Given the description of an element on the screen output the (x, y) to click on. 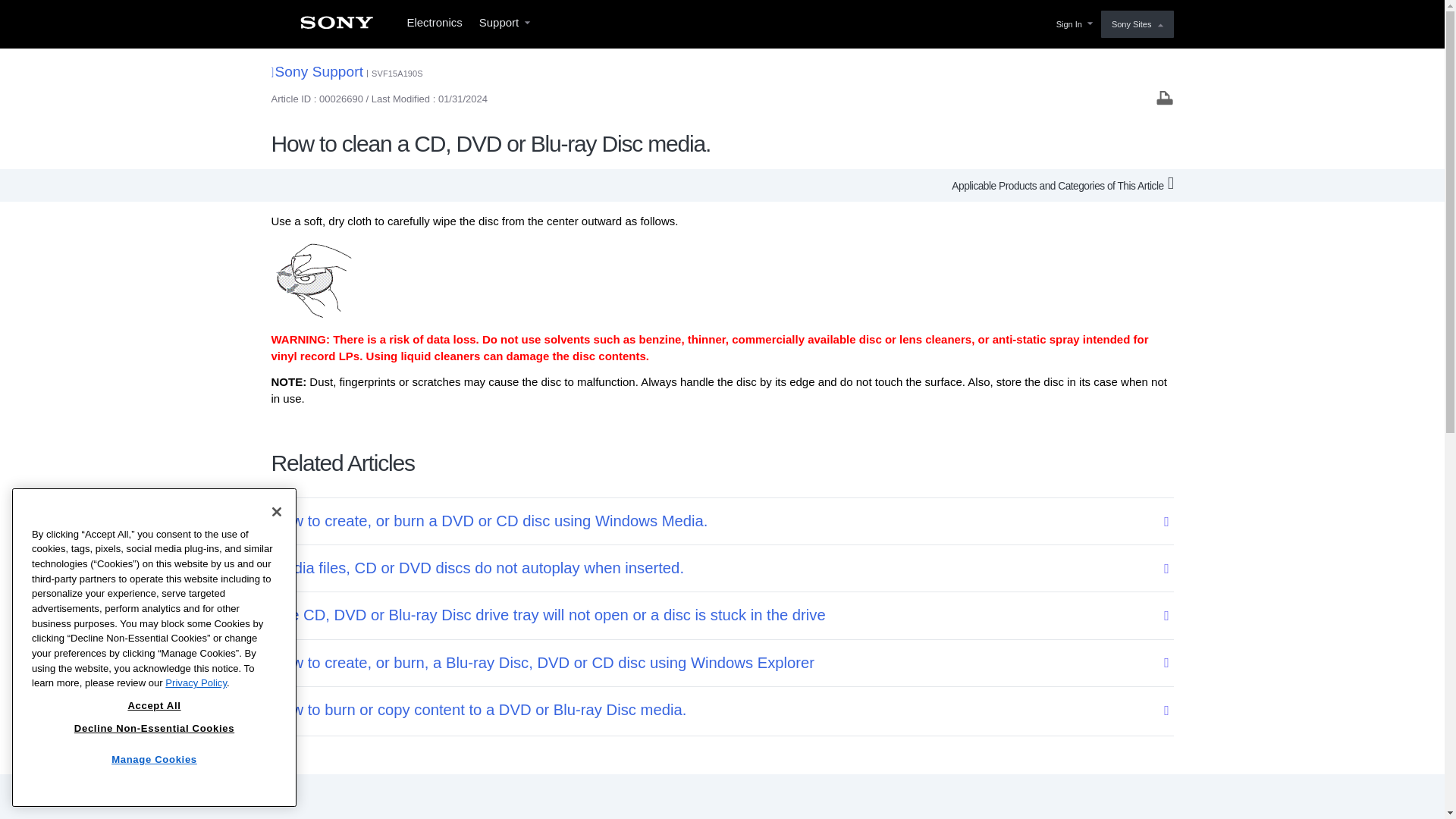
Sony Sites (1136, 23)
Media files, CD or DVD discs do not autoplay when inserted. (712, 568)
SVF15A190S (397, 72)
How to create, or burn a DVD or CD disc using Windows Media. (712, 521)
SONY (336, 26)
How to burn or copy content to a DVD or Blu-ray Disc media. (712, 710)
Sony Support (317, 71)
Electronics (434, 24)
Print (1164, 97)
SONY (336, 26)
Sign In (1072, 23)
Support (504, 24)
